Given the description of an element on the screen output the (x, y) to click on. 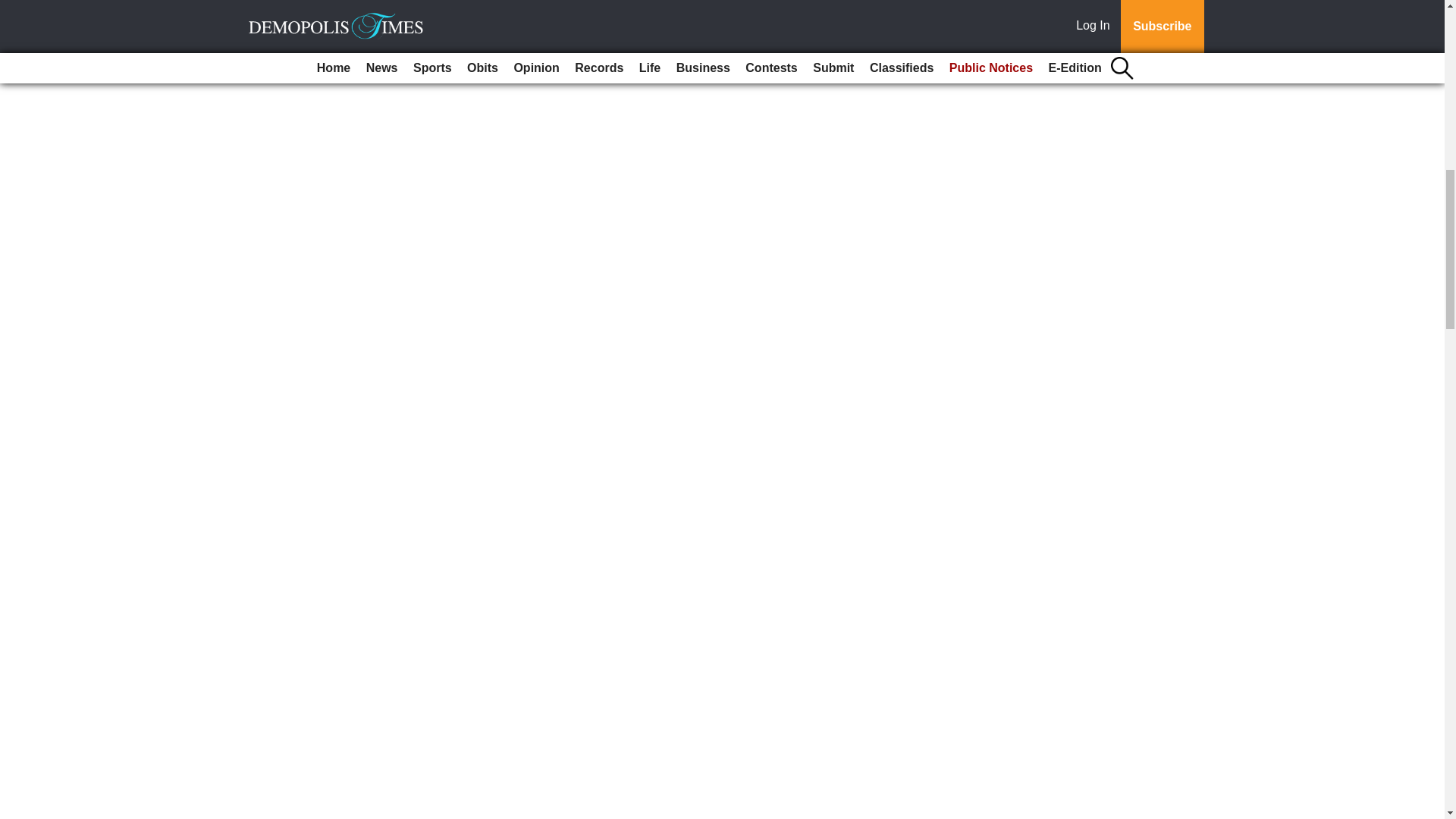
How to Watch (59, 20)
Tickets (118, 20)
